Given the description of an element on the screen output the (x, y) to click on. 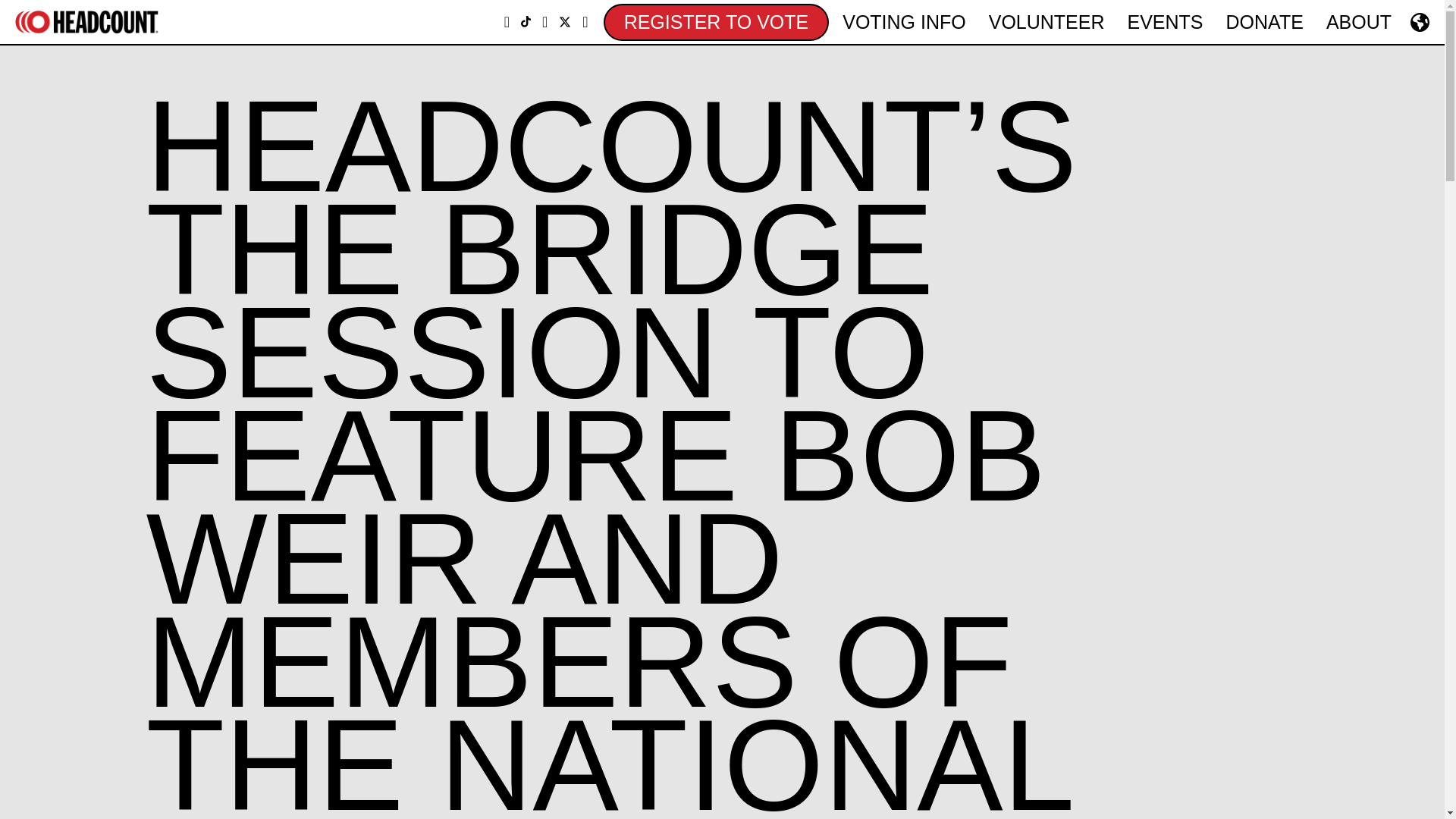
DONATE (1264, 22)
EVENTS (1165, 22)
VOLUNTEER (1046, 22)
ABOUT (1358, 22)
REGISTER TO VOTE (716, 21)
VOTING INFO (903, 22)
